Given the description of an element on the screen output the (x, y) to click on. 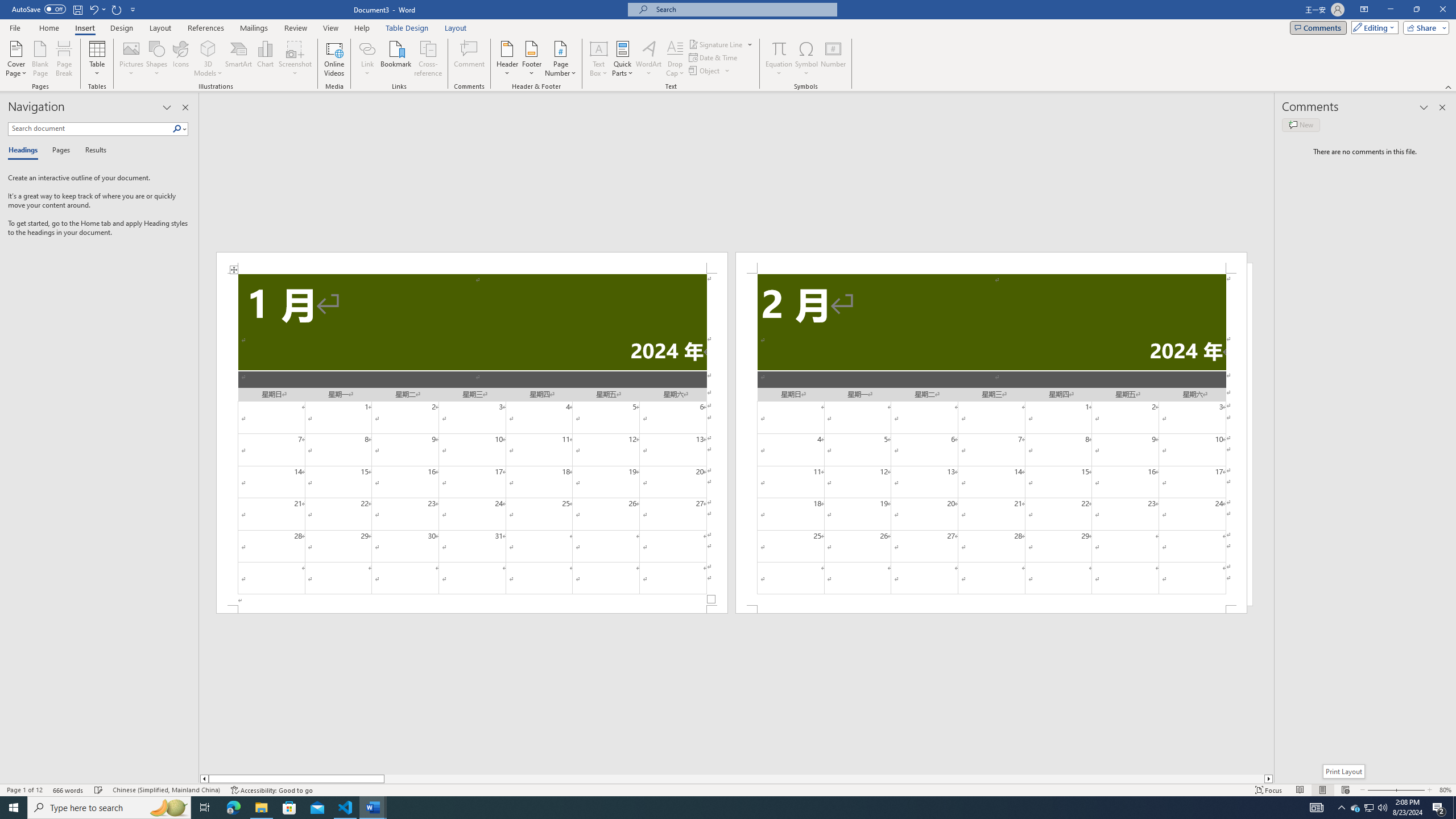
Equation (778, 48)
Chart... (265, 58)
Minimize (1390, 9)
Repeat Doc Close (117, 9)
Object... (705, 69)
Spelling and Grammar Check Checking (98, 790)
Read Mode (1299, 790)
Number... (833, 58)
Share (1423, 27)
Focus  (1268, 790)
Header -Section 2- (991, 263)
Insert (83, 28)
